Given the description of an element on the screen output the (x, y) to click on. 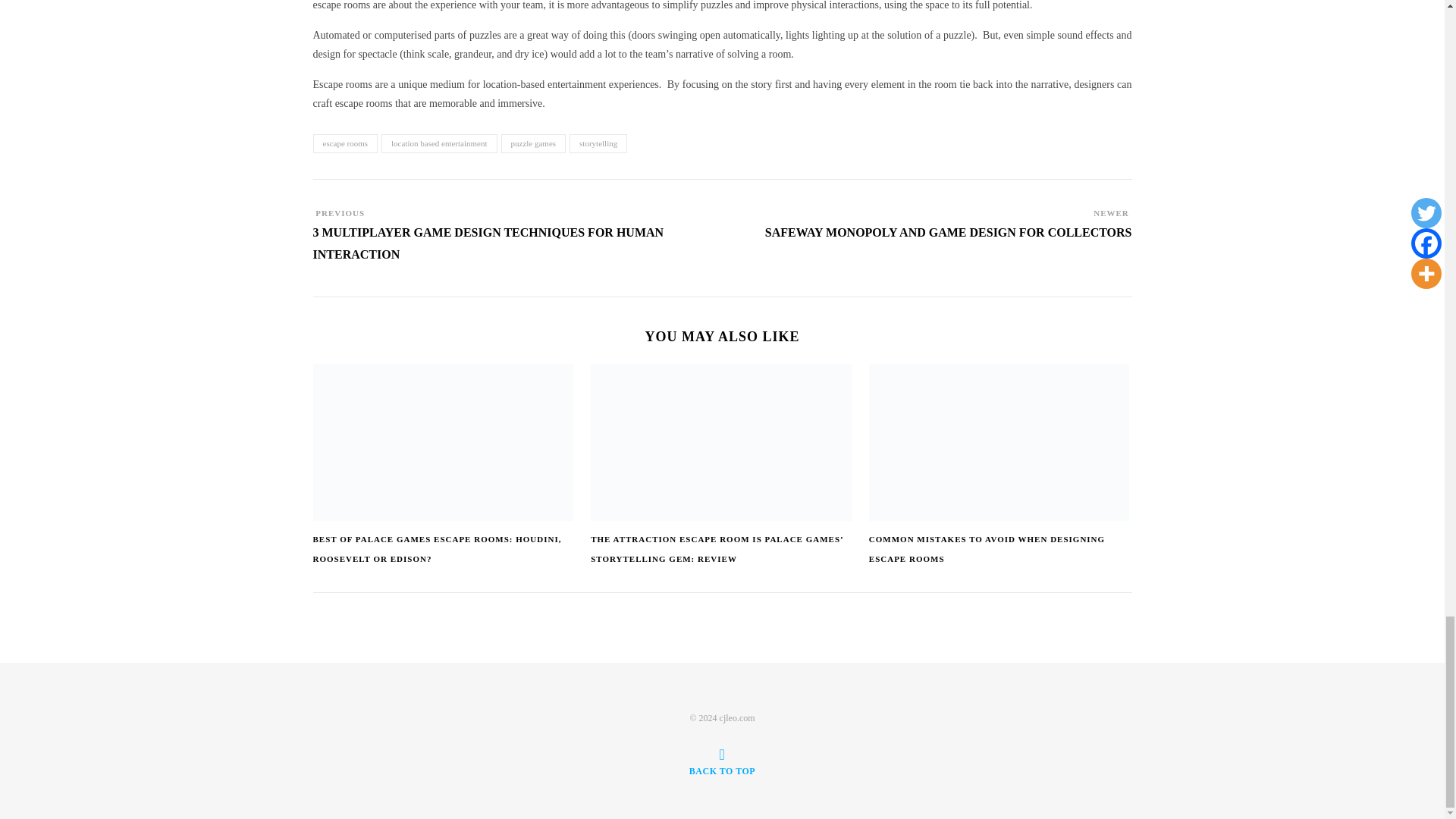
BACK TO TOP (722, 761)
3 multiplayer game design techniques for human interaction (517, 250)
safeway monopoly and game design for collectors (948, 239)
